Given the description of an element on the screen output the (x, y) to click on. 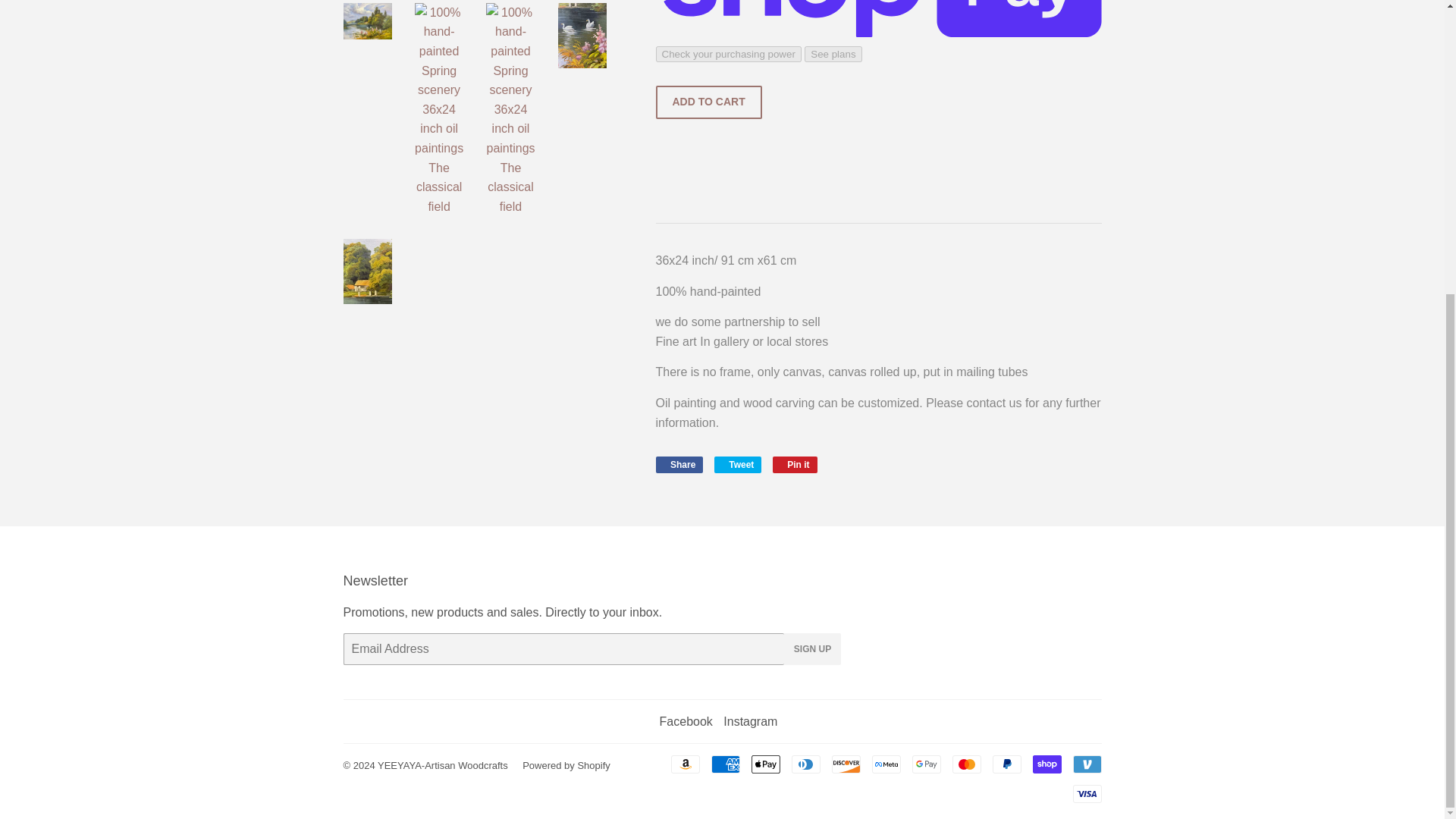
Pin on Pinterest (794, 464)
Amazon (683, 764)
American Express (794, 464)
YEEYAYA-Artisan Woodcrafts  on Facebook (725, 764)
Visa (686, 721)
Diners Club (1085, 793)
YEEYAYA-Artisan Woodcrafts (806, 764)
SIGN UP (442, 765)
Apple Pay (812, 649)
